Given the description of an element on the screen output the (x, y) to click on. 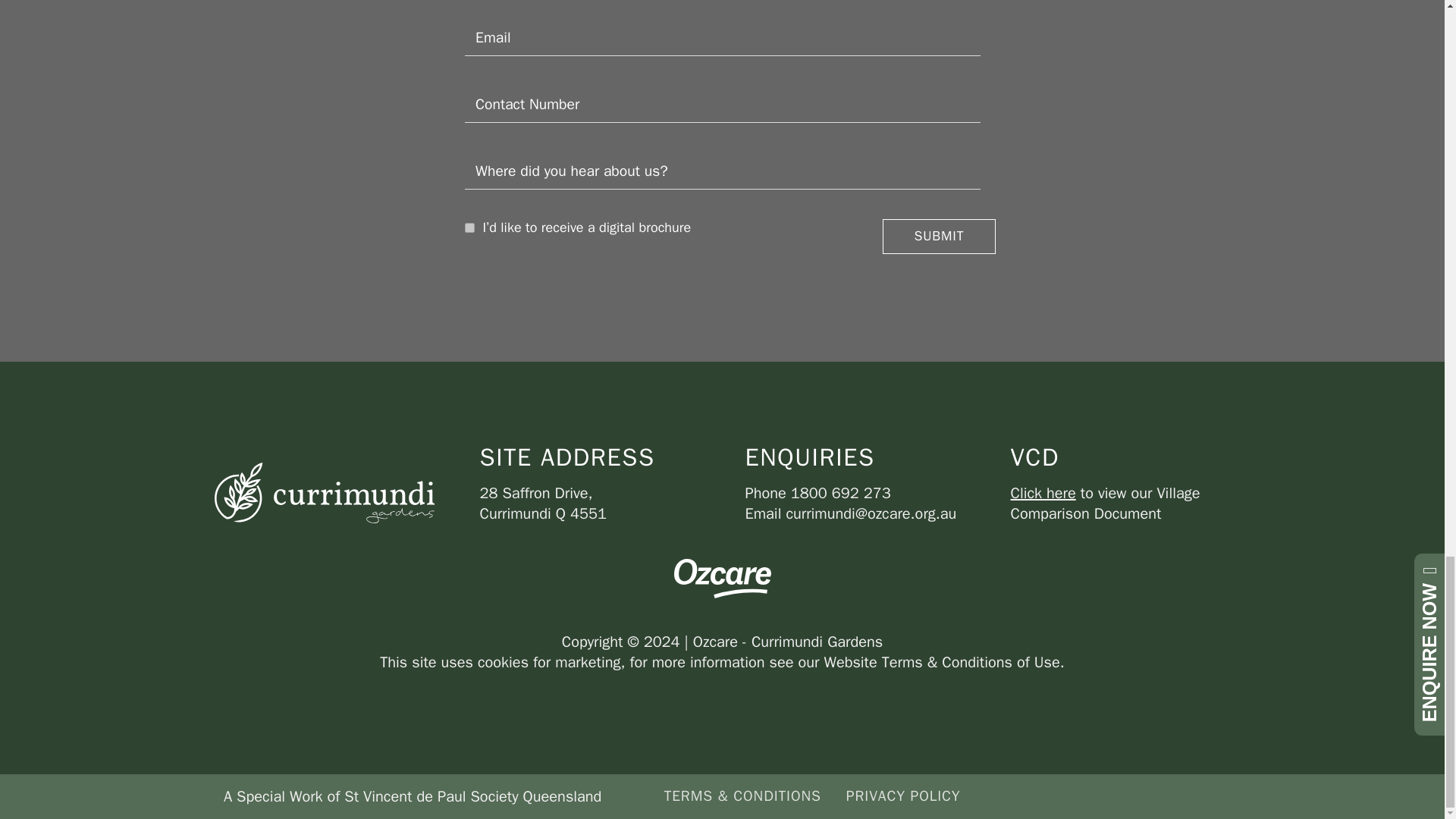
Click here (1042, 493)
PRIVACY POLICY (902, 796)
1800 692 273 (840, 493)
Submit (938, 236)
Submit (938, 236)
